Given the description of an element on the screen output the (x, y) to click on. 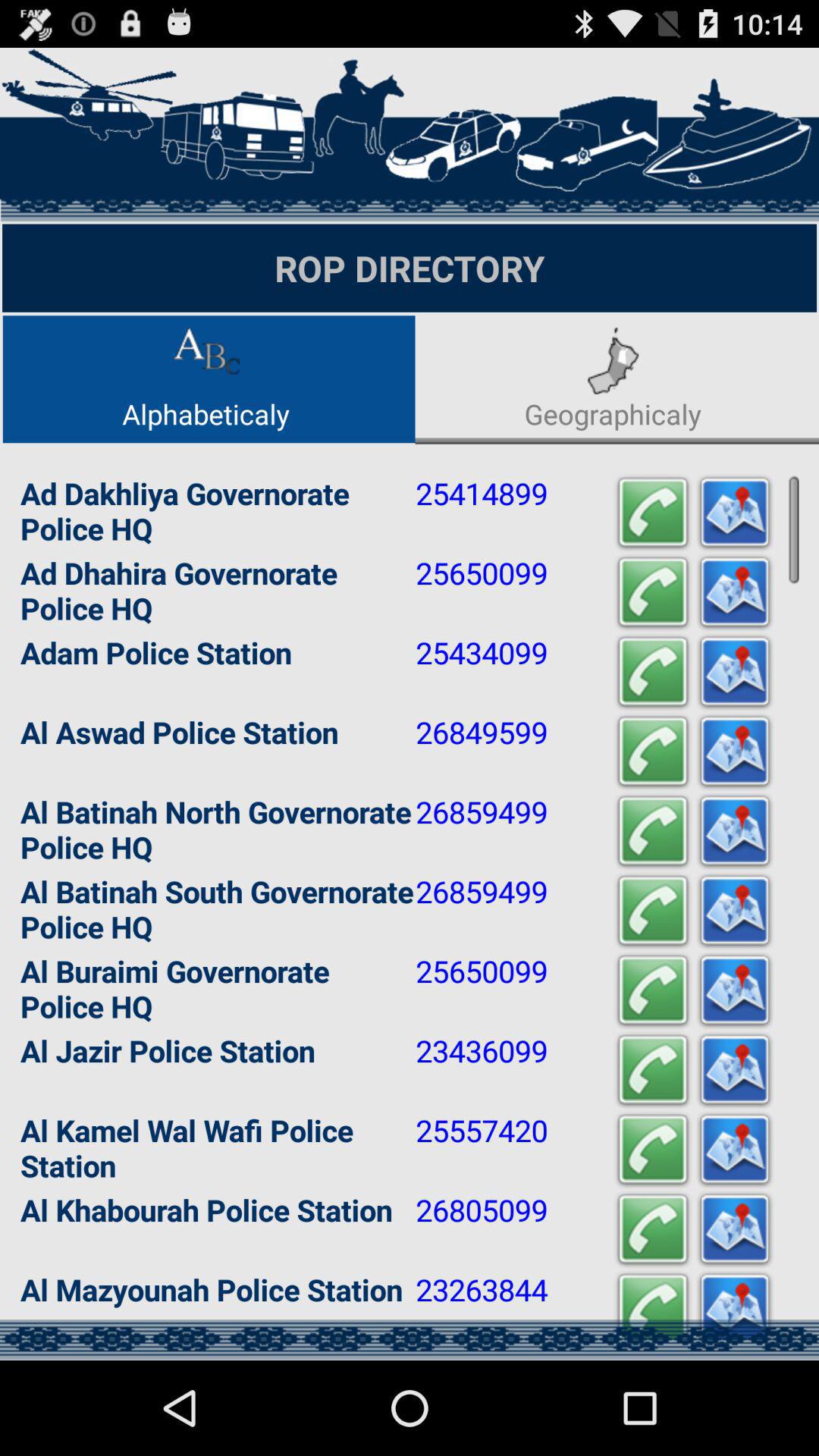
view map (734, 1229)
